Given the description of an element on the screen output the (x, y) to click on. 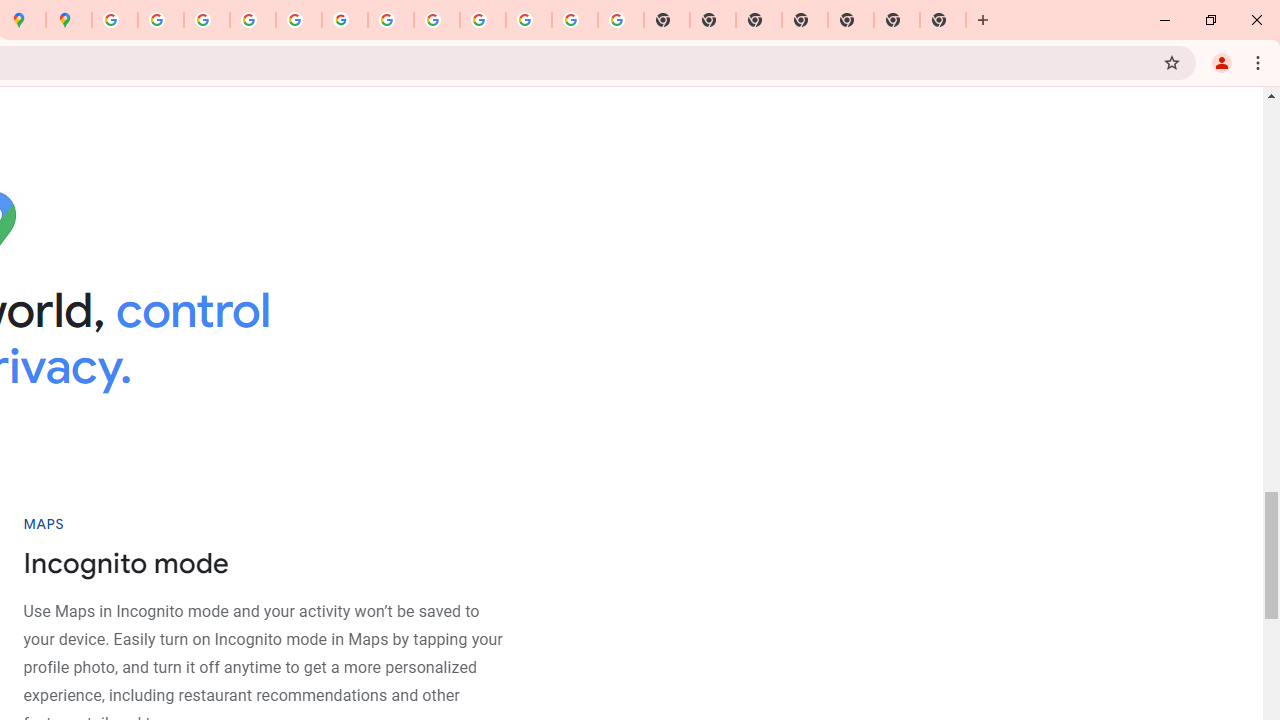
New Tab (805, 20)
New Tab (943, 20)
Privacy Help Center - Policies Help (207, 20)
